Given the description of an element on the screen output the (x, y) to click on. 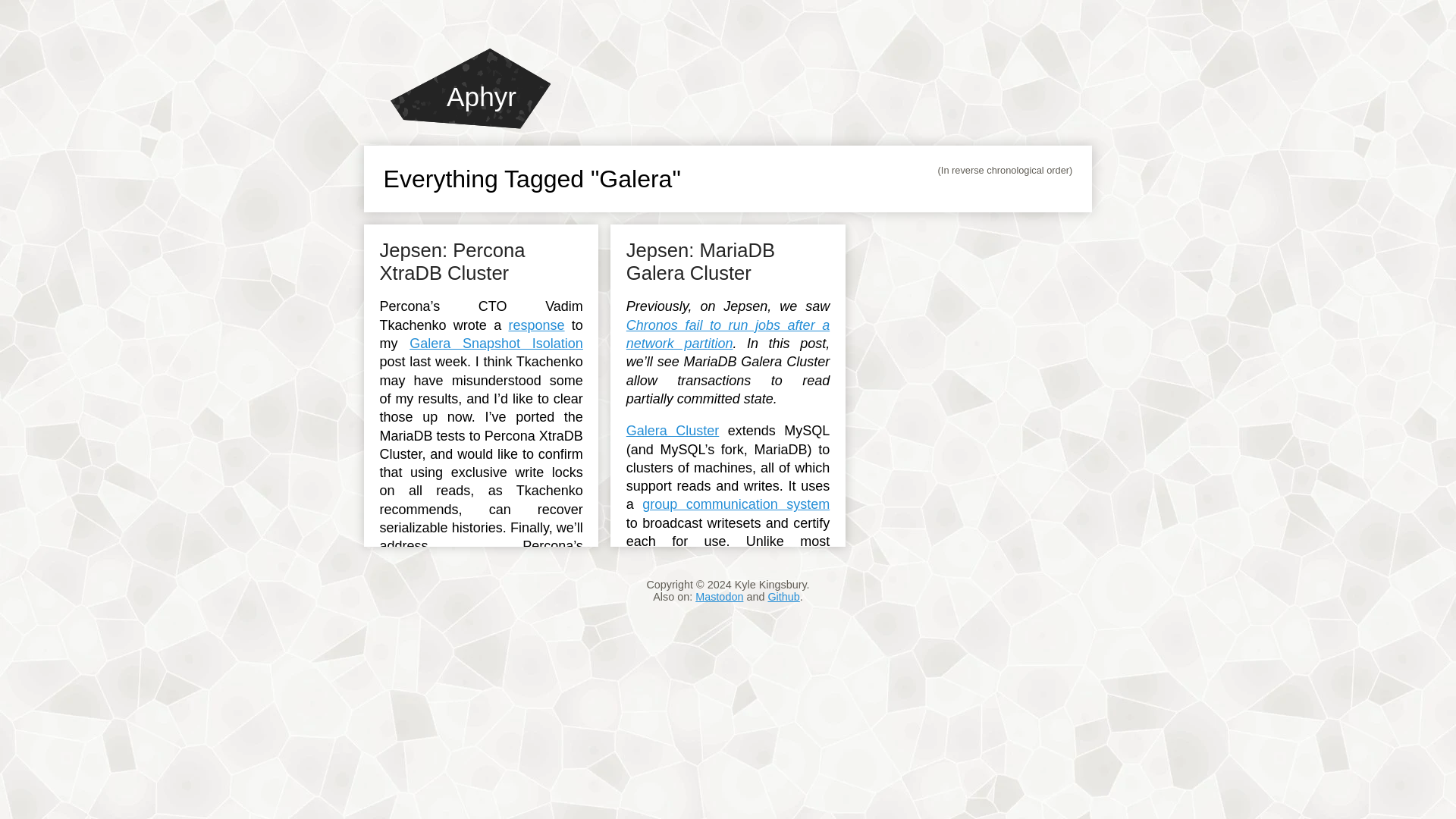
Galera Snapshot Isolation (496, 343)
group communication system (735, 503)
response (536, 324)
Jepsen: Percona XtraDB Cluster (451, 260)
Aphyr (470, 88)
Galera Cluster (672, 430)
Chronos fail to run jobs after a network partition (727, 334)
Jepsen: MariaDB Galera Cluster (700, 260)
